Given the description of an element on the screen output the (x, y) to click on. 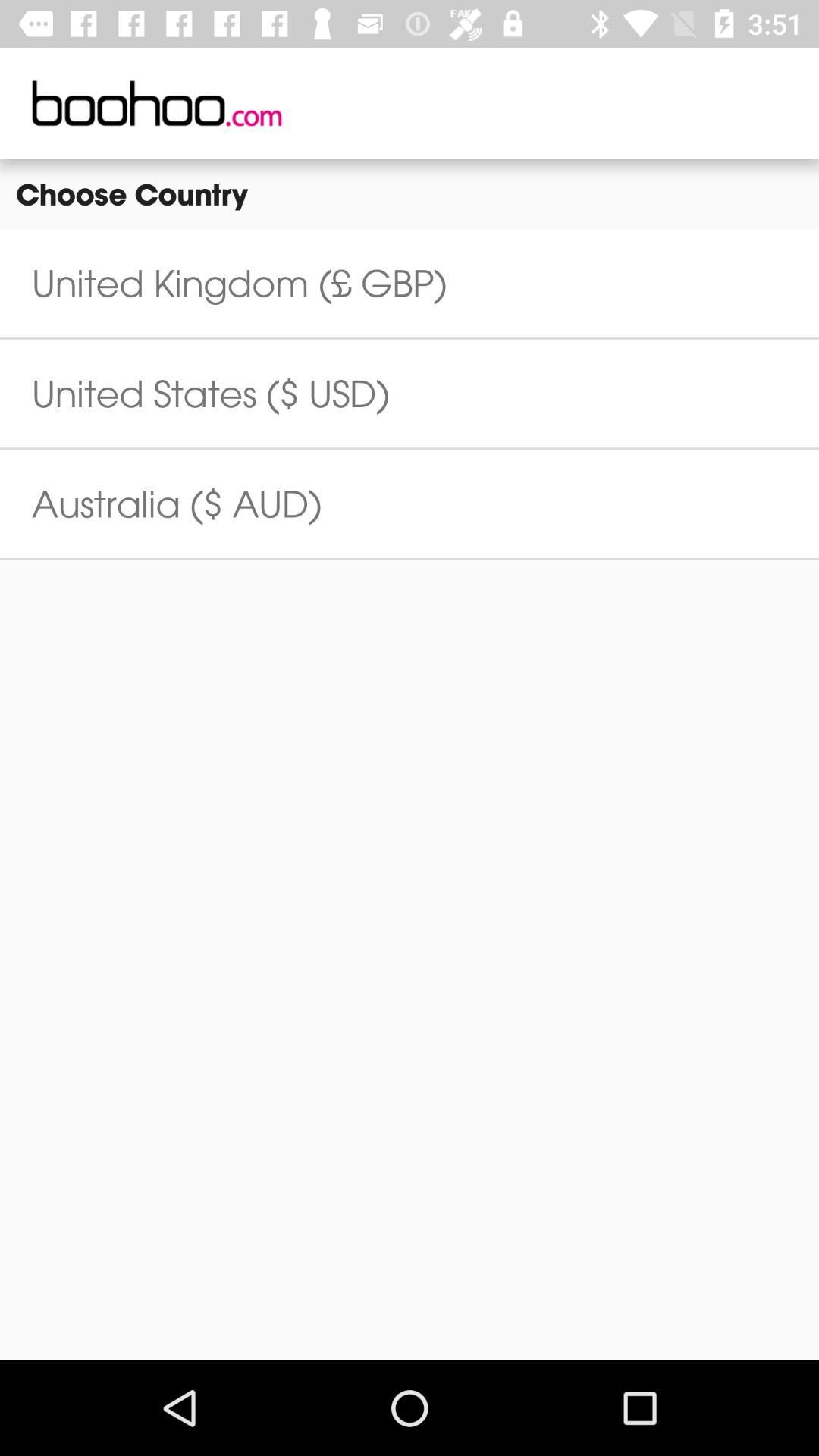
launch australia ($ aud) item (176, 503)
